Given the description of an element on the screen output the (x, y) to click on. 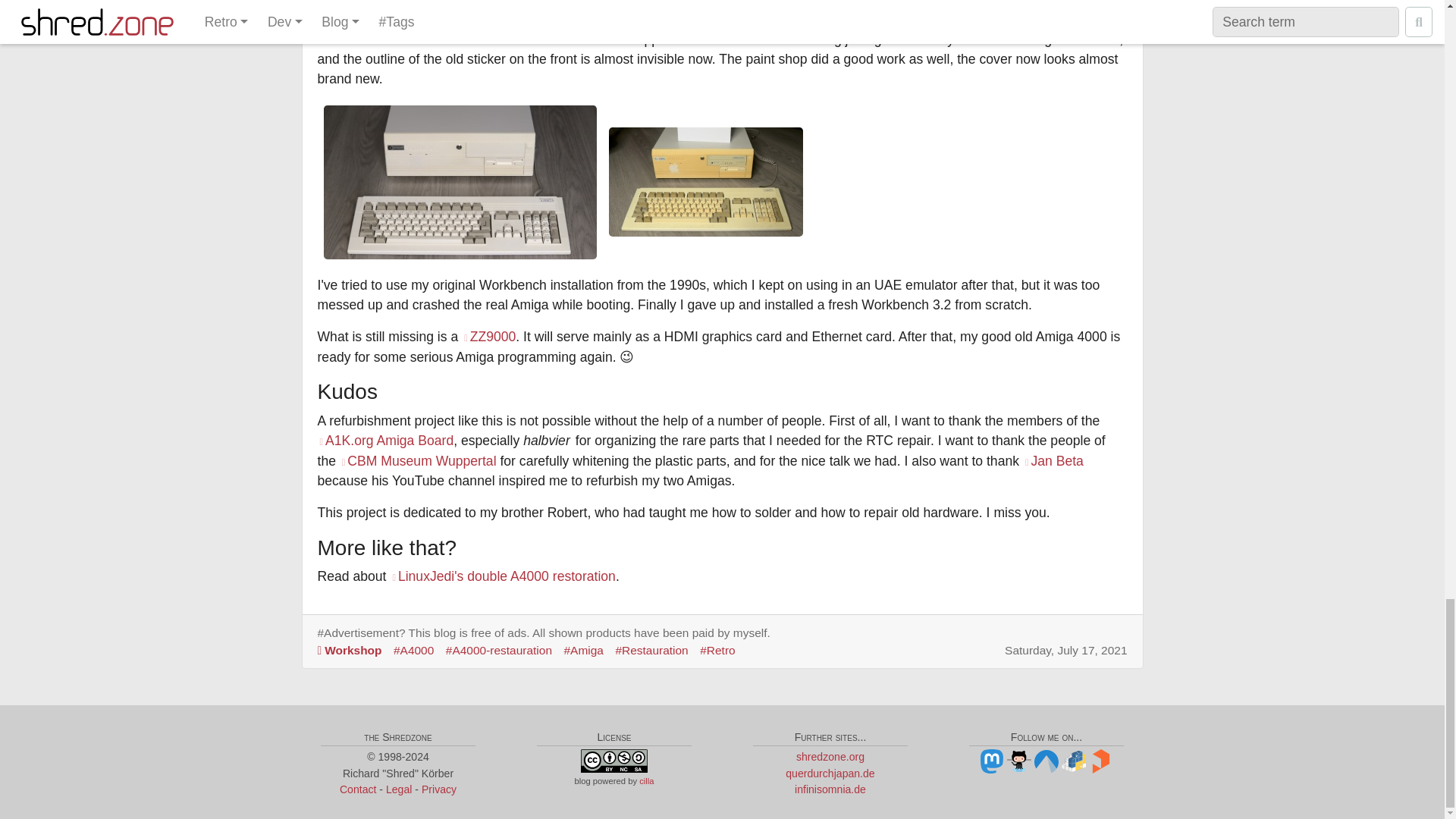
CBM Museum Wuppertal (417, 460)
Jan Beta (1053, 460)
Creative Commons by-nc-sa 4.0 (613, 761)
Mastodon (991, 760)
ZZ9000 (488, 336)
My Retro Computer Workshop (355, 649)
A1K.org Amiga Board (384, 440)
